Given the description of an element on the screen output the (x, y) to click on. 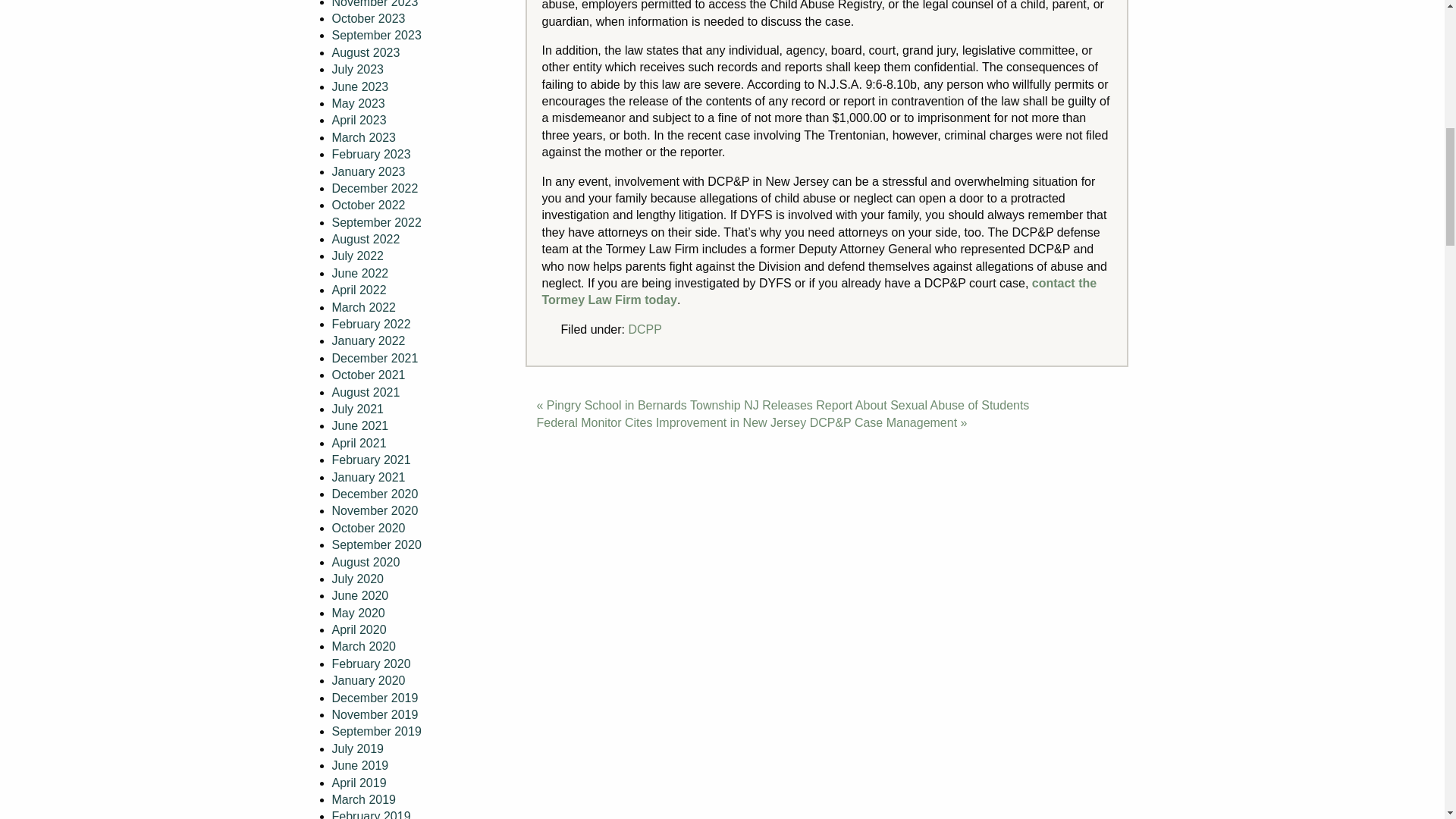
November 2023 (375, 4)
DCPP (644, 328)
October 2023 (368, 18)
contact the Tormey Law Firm today (818, 291)
